Given the description of an element on the screen output the (x, y) to click on. 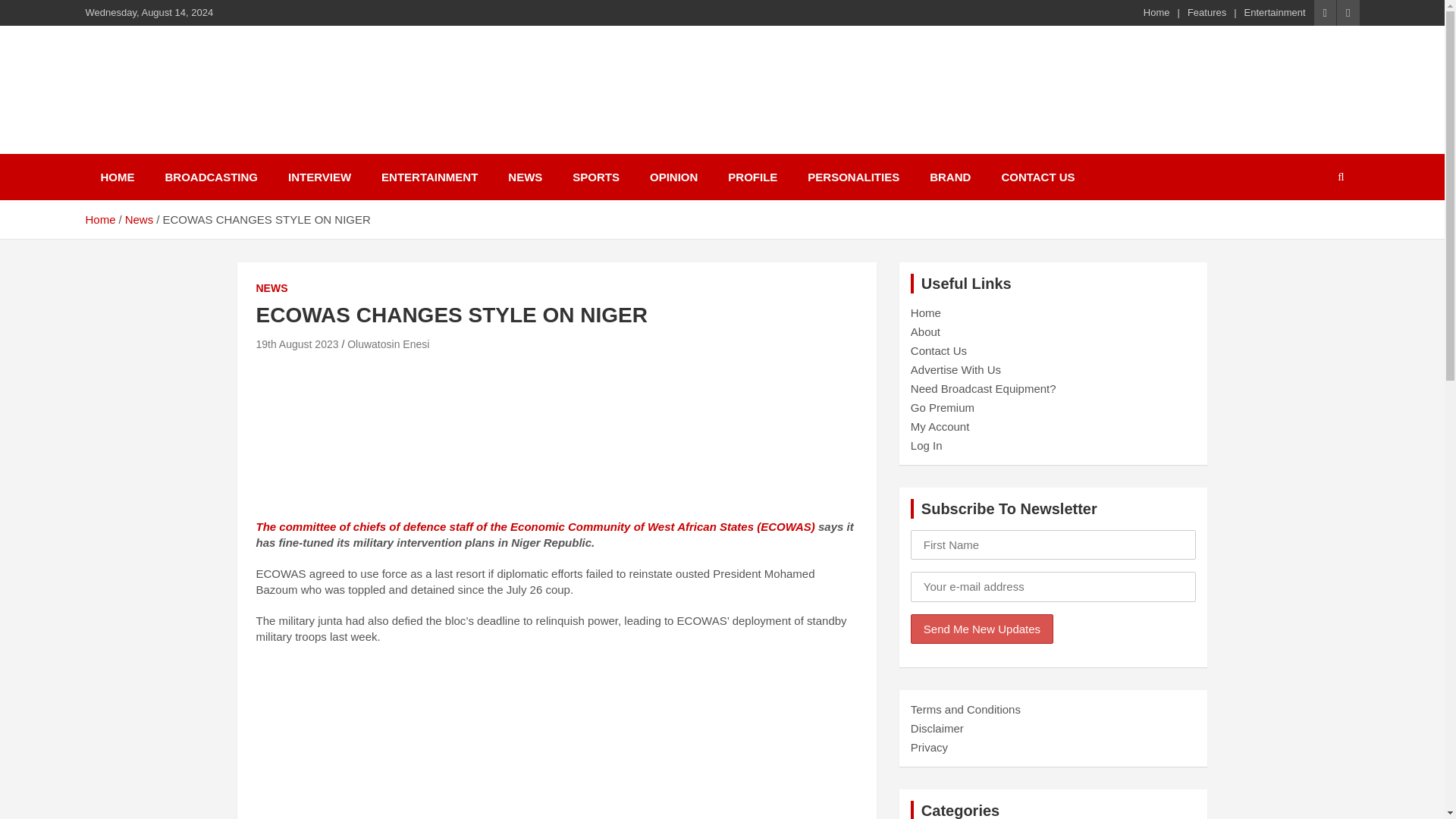
Home (99, 219)
Home (1156, 12)
PROFILE (752, 176)
News (139, 219)
HOME (116, 176)
NEWS (525, 176)
Need Broadcast Equipment? (984, 388)
PERSONALITIES (853, 176)
NEWS (272, 288)
My Account (940, 426)
